Given the description of an element on the screen output the (x, y) to click on. 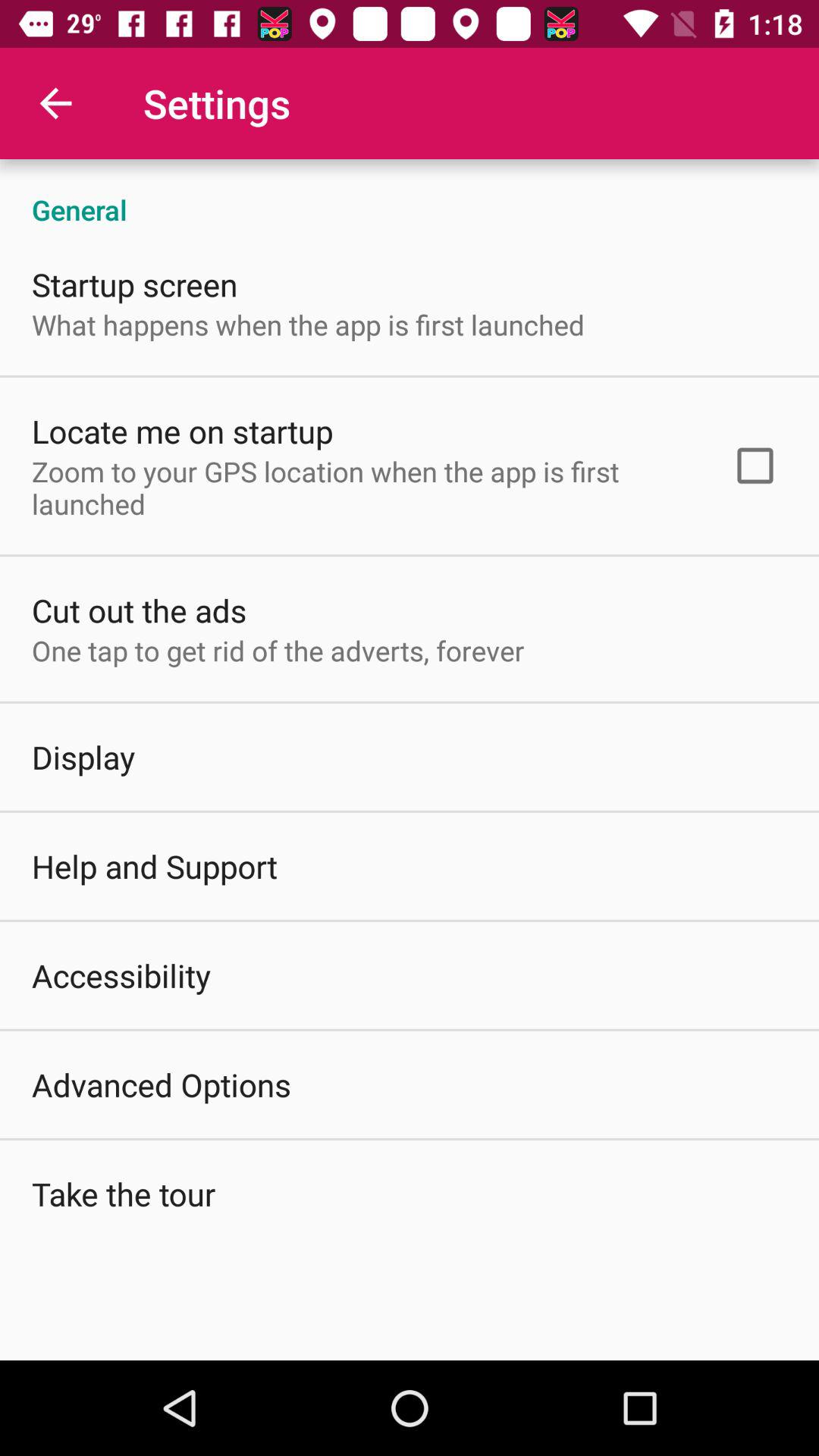
click icon above the display item (277, 650)
